Given the description of an element on the screen output the (x, y) to click on. 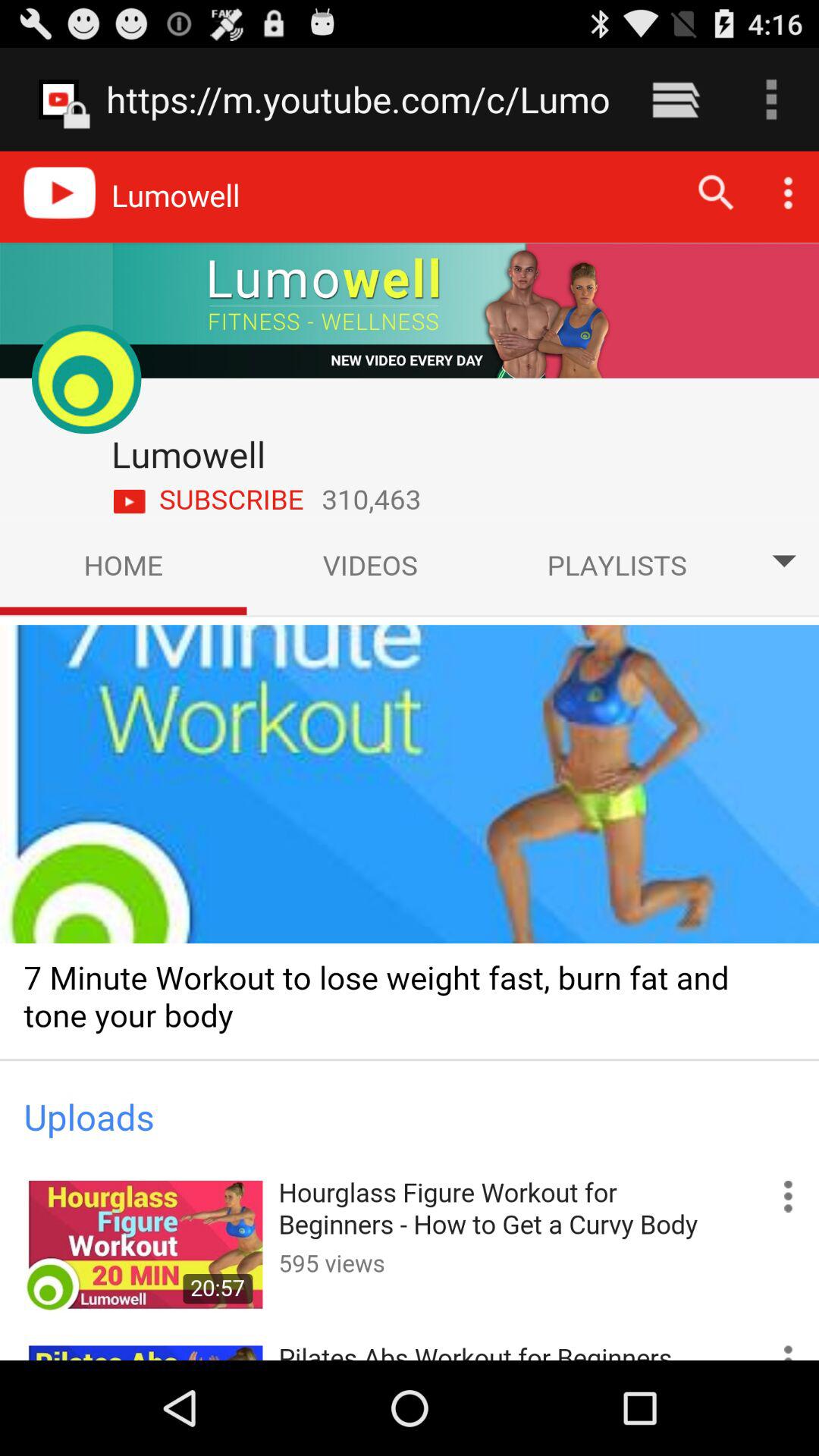
flip to the https m youtube item (357, 99)
